Given the description of an element on the screen output the (x, y) to click on. 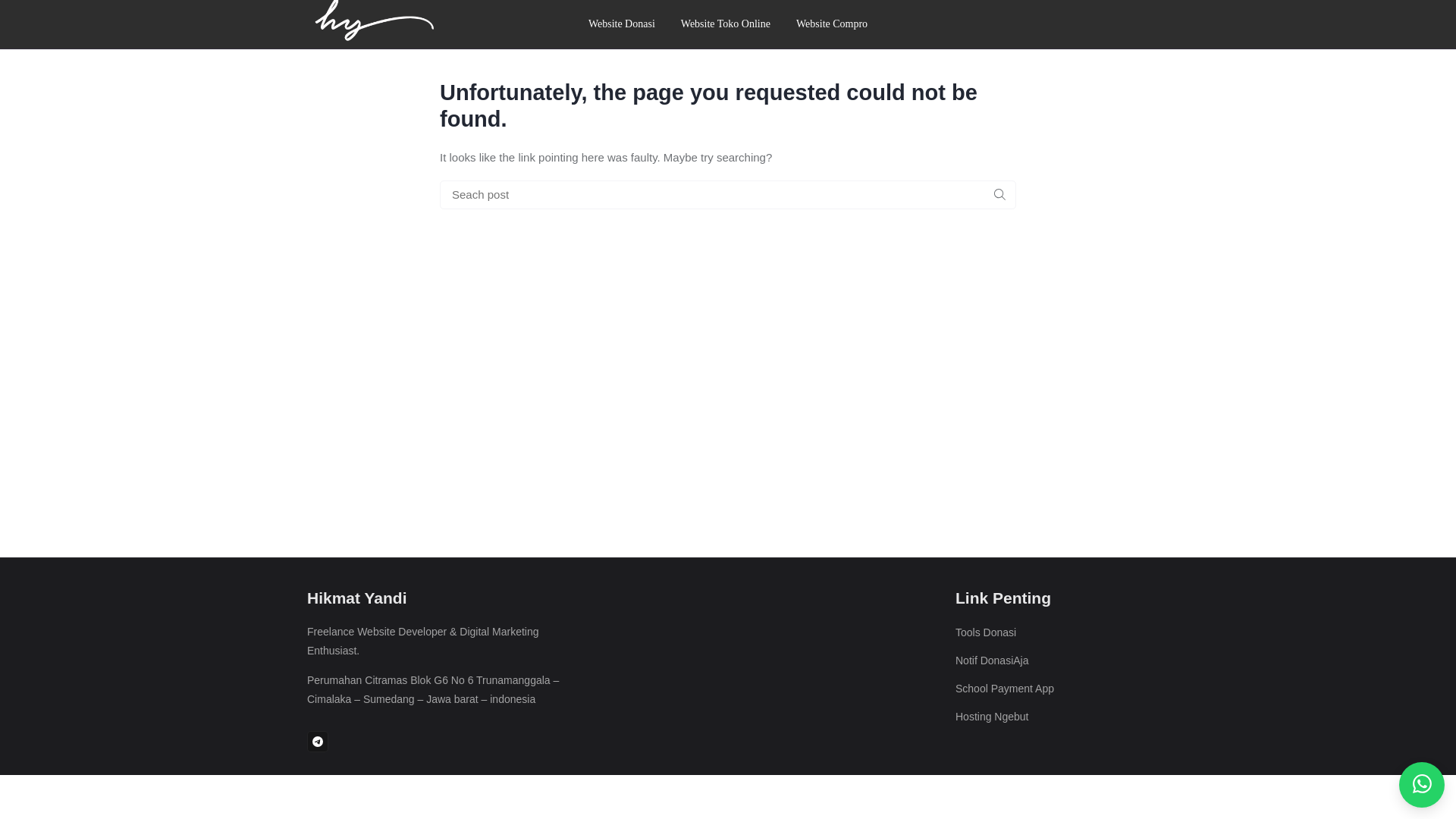
Website Compro (831, 24)
Hosting Ngebut (992, 716)
Website Donasi (621, 24)
Tools Donasi (985, 632)
Website Toko Online (725, 24)
Notif DonasiAja (992, 660)
School Payment App (1004, 688)
